Given the description of an element on the screen output the (x, y) to click on. 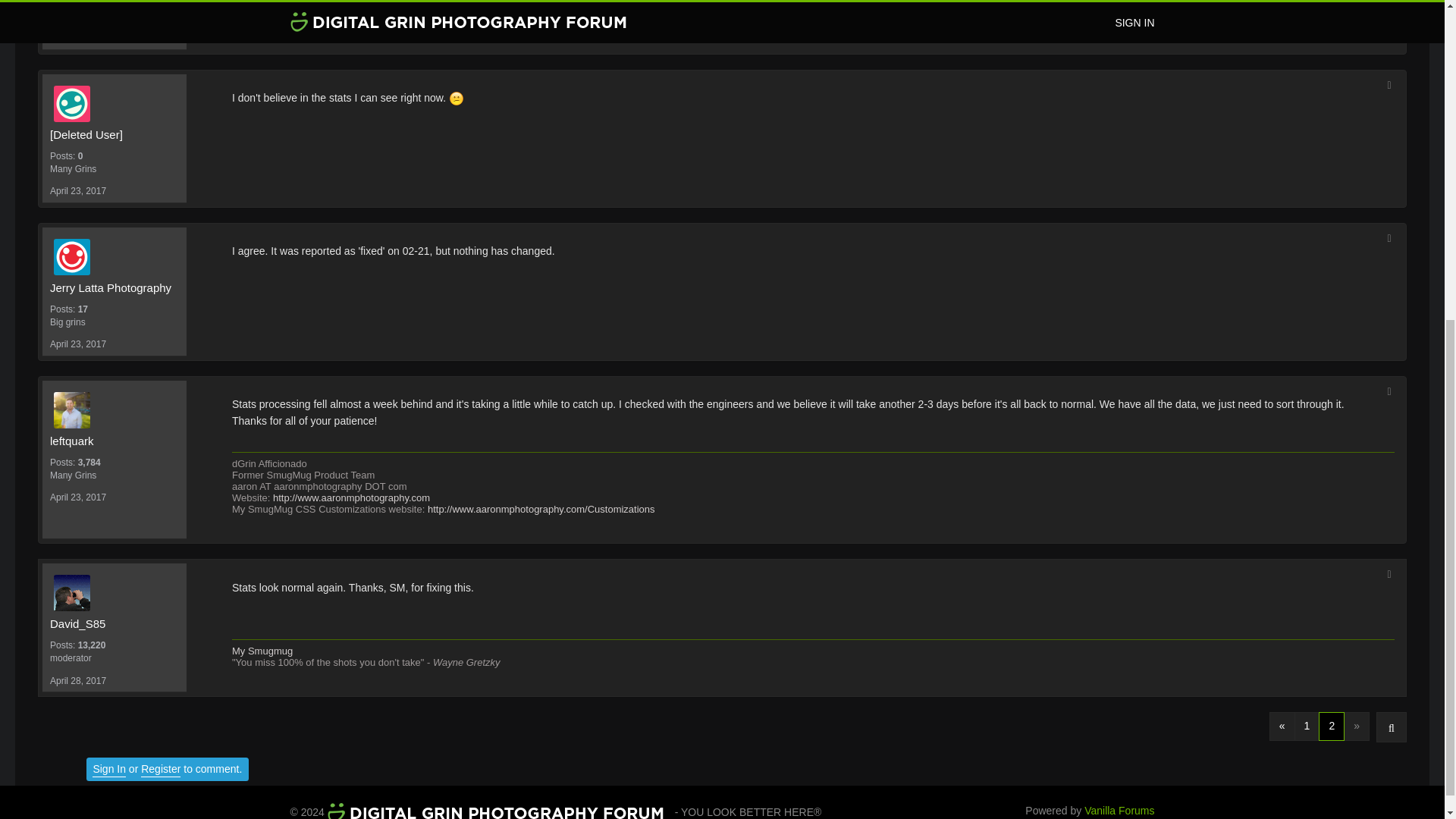
Big grins (114, 15)
April 23, 2017 (77, 190)
April 22, 2017 1:15PM (77, 37)
Jerry Latta Photography (114, 288)
April 22, 2017 (77, 37)
April 28, 2017 (77, 680)
Many Grins (114, 169)
April 23, 2017 3:42PM (77, 190)
leftquark (114, 441)
April 23, 2017 (77, 497)
April 23, 2017 (77, 344)
